Given the description of an element on the screen output the (x, y) to click on. 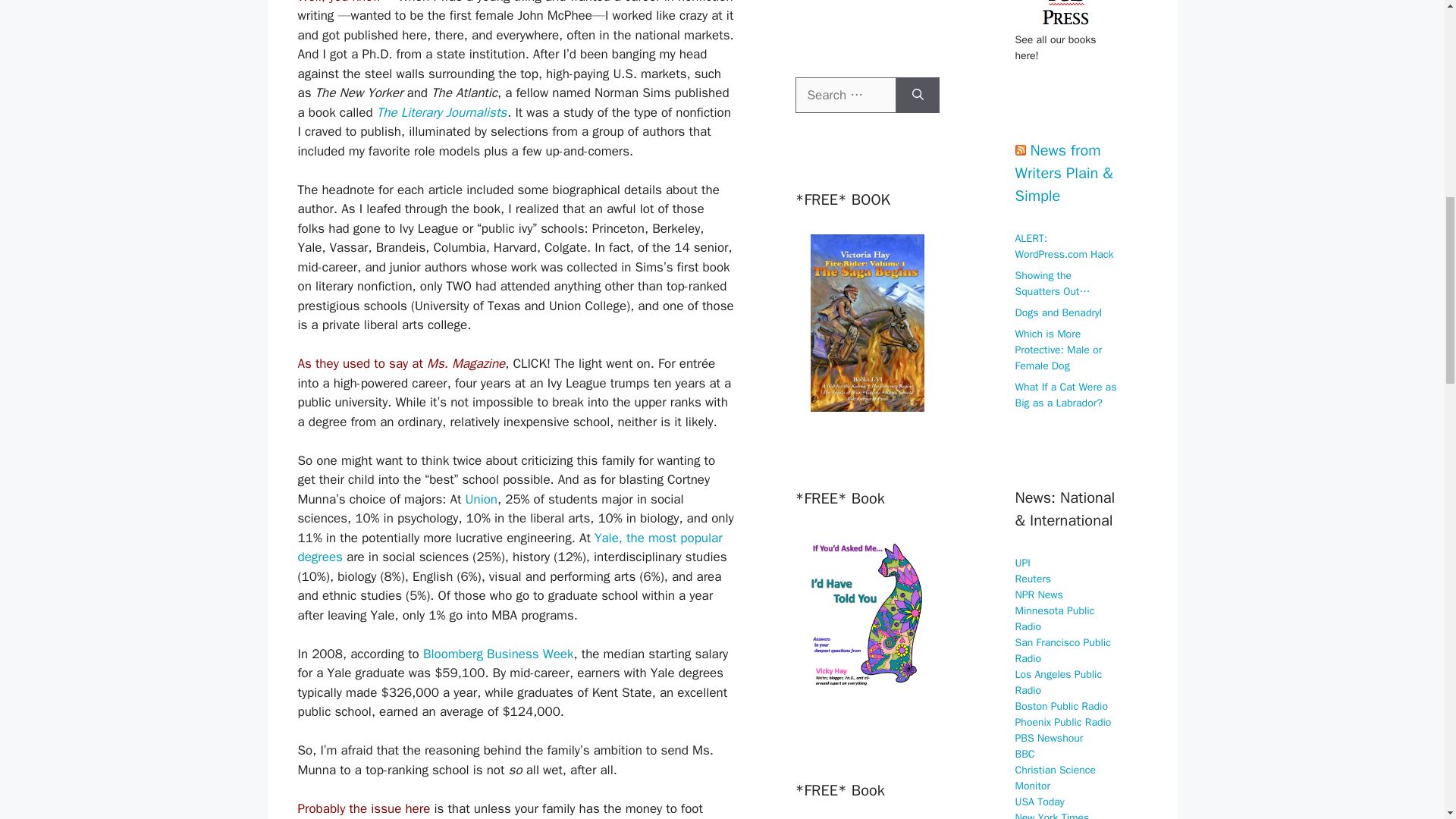
UPI (1021, 562)
Reuters (1032, 577)
The Literary Journalists (441, 112)
Dogs and Benadryl (1058, 312)
What If a Cat Were as Big as a Labrador? (1065, 394)
Which is More Protective: Male or Female Dog (1058, 349)
ALERT: WordPress.com Hack (1063, 246)
Union (481, 498)
Yale, the most popular degrees (509, 547)
San Francisco Public Radio (1061, 649)
